Given the description of an element on the screen output the (x, y) to click on. 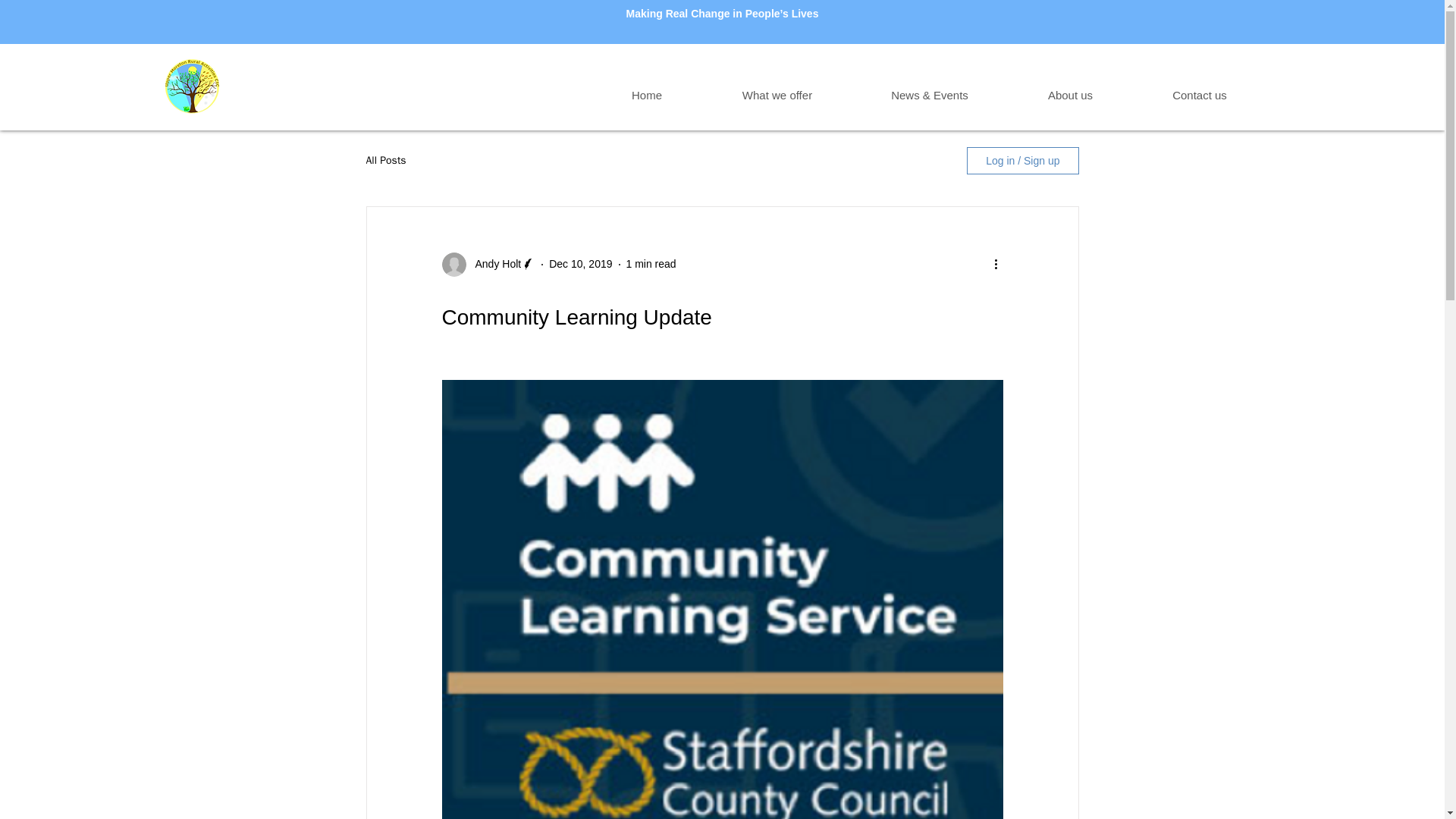
Home (647, 95)
Andy Holt (493, 263)
Contact us (1198, 95)
About us (1069, 95)
Dec 10, 2019 (579, 263)
All Posts (385, 160)
What we offer (776, 95)
1 min read (651, 263)
